Given the description of an element on the screen output the (x, y) to click on. 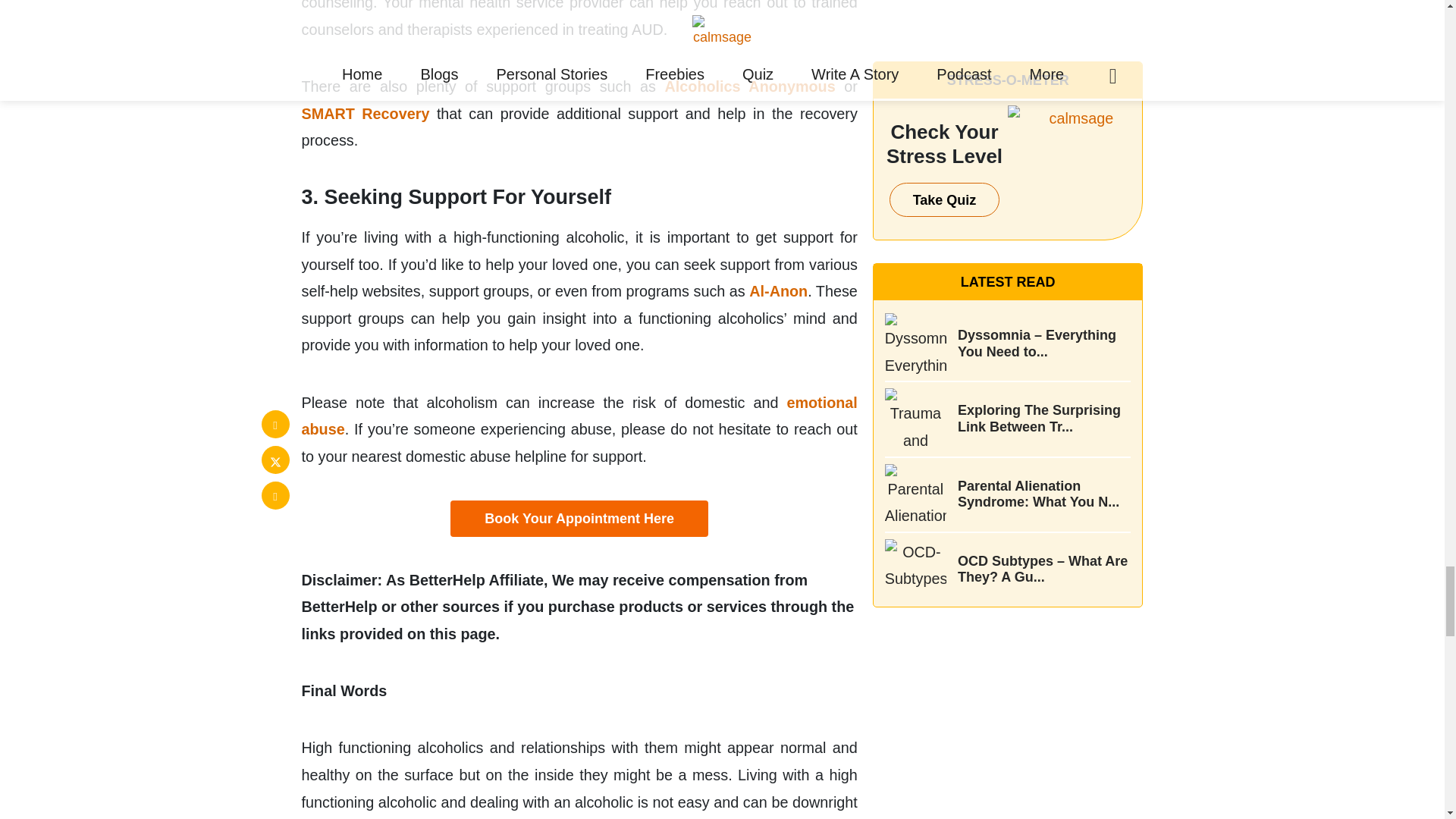
Book Your Appointment Here (578, 518)
Alcoholics Anonymous (750, 86)
emotional abuse (579, 415)
Al-Anon (778, 290)
SMART Recovery (365, 113)
